Given the description of an element on the screen output the (x, y) to click on. 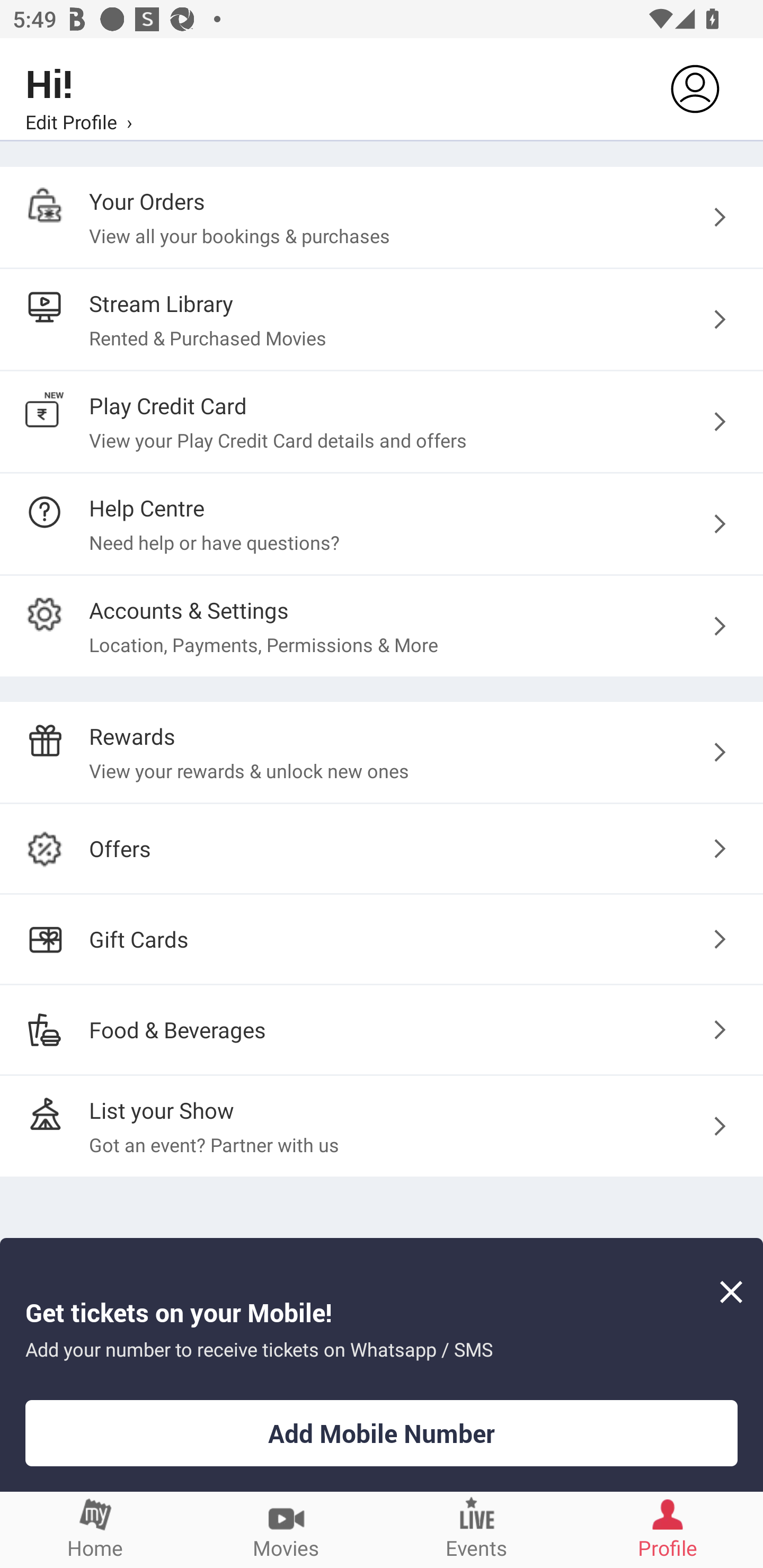
Edit Profile  › (78, 121)
Your Orders View all your bookings & purchases (381, 217)
Stream Library Rented & Purchased Movies (381, 319)
Help Centre Need help or have questions? (381, 523)
Rewards View your rewards & unlock new ones (381, 752)
Offers (381, 848)
Gift Cards (381, 939)
Food & Beverages (381, 1029)
List your Show Got an event? Partner with us (381, 1125)
Add Mobile Number (381, 1432)
Home (95, 1529)
Movies (285, 1529)
Events (476, 1529)
Profile (667, 1529)
